Given the description of an element on the screen output the (x, y) to click on. 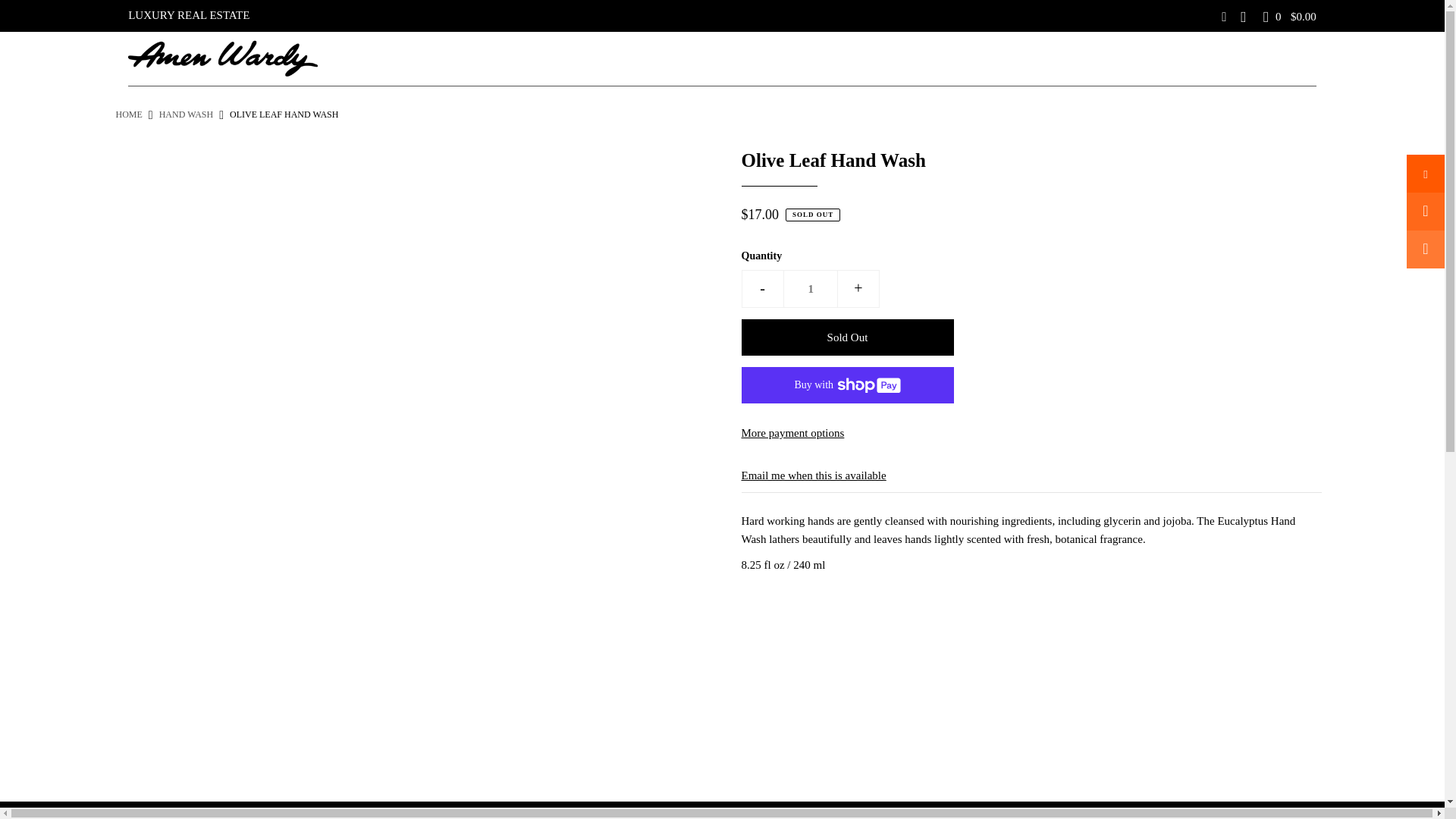
HAND WASH (185, 113)
Share on Facebook (1425, 173)
LUXURY REAL ESTATE (188, 15)
Hand Wash (185, 113)
HOME (128, 113)
Home (128, 113)
Sold Out (847, 337)
Sold Out (847, 337)
Share on Twitter (1425, 211)
Share on Pinterest (1425, 249)
More payment options (1031, 432)
- (762, 288)
1 (810, 288)
